Given the description of an element on the screen output the (x, y) to click on. 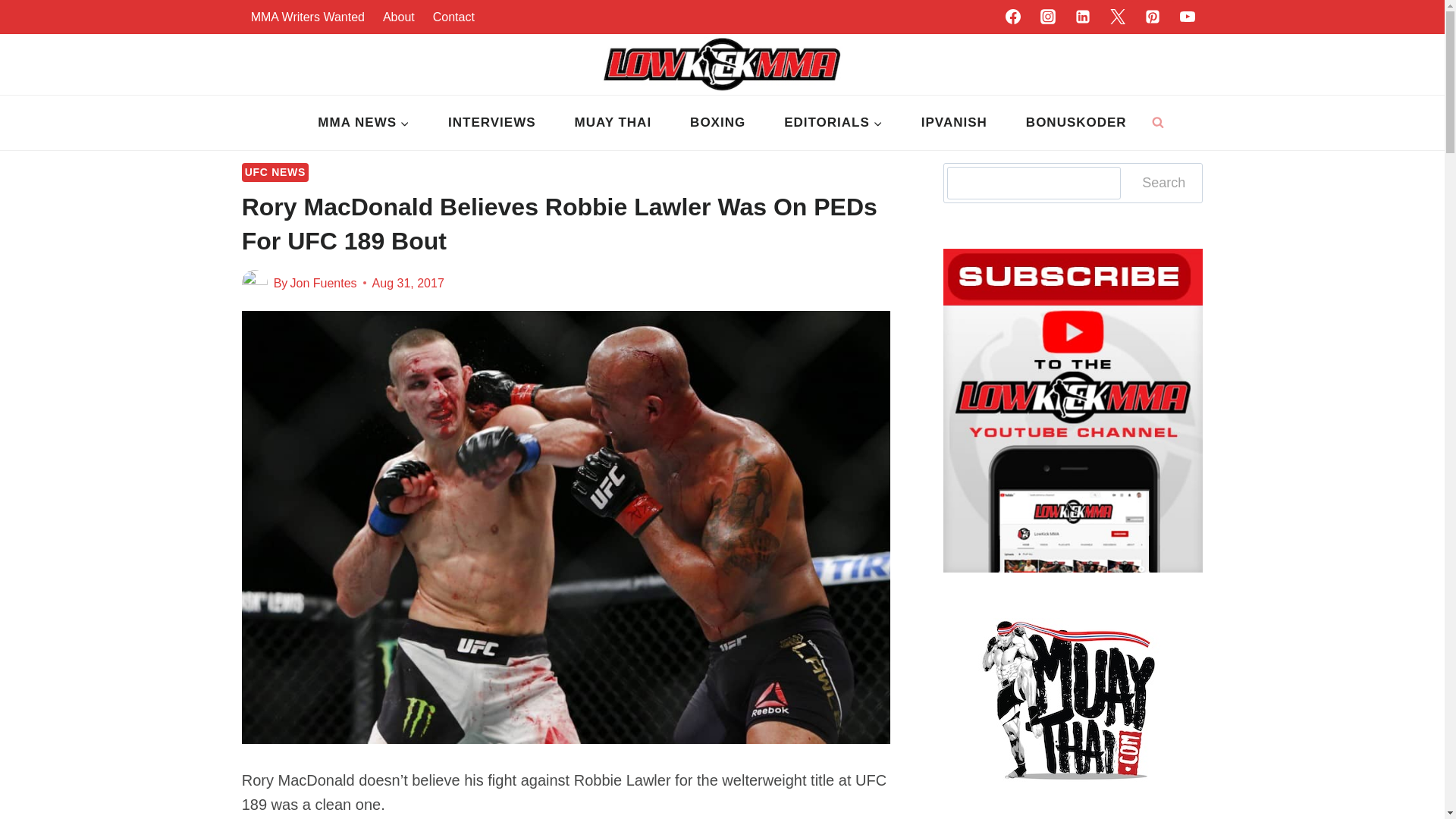
INTERVIEWS (491, 122)
MMA NEWS (363, 122)
About (398, 17)
MMA Writers Wanted (307, 17)
EDITORIALS (833, 122)
IPVANISH (953, 122)
MUAY THAI (612, 122)
BOXING (718, 122)
Contact (453, 17)
